Given the description of an element on the screen output the (x, y) to click on. 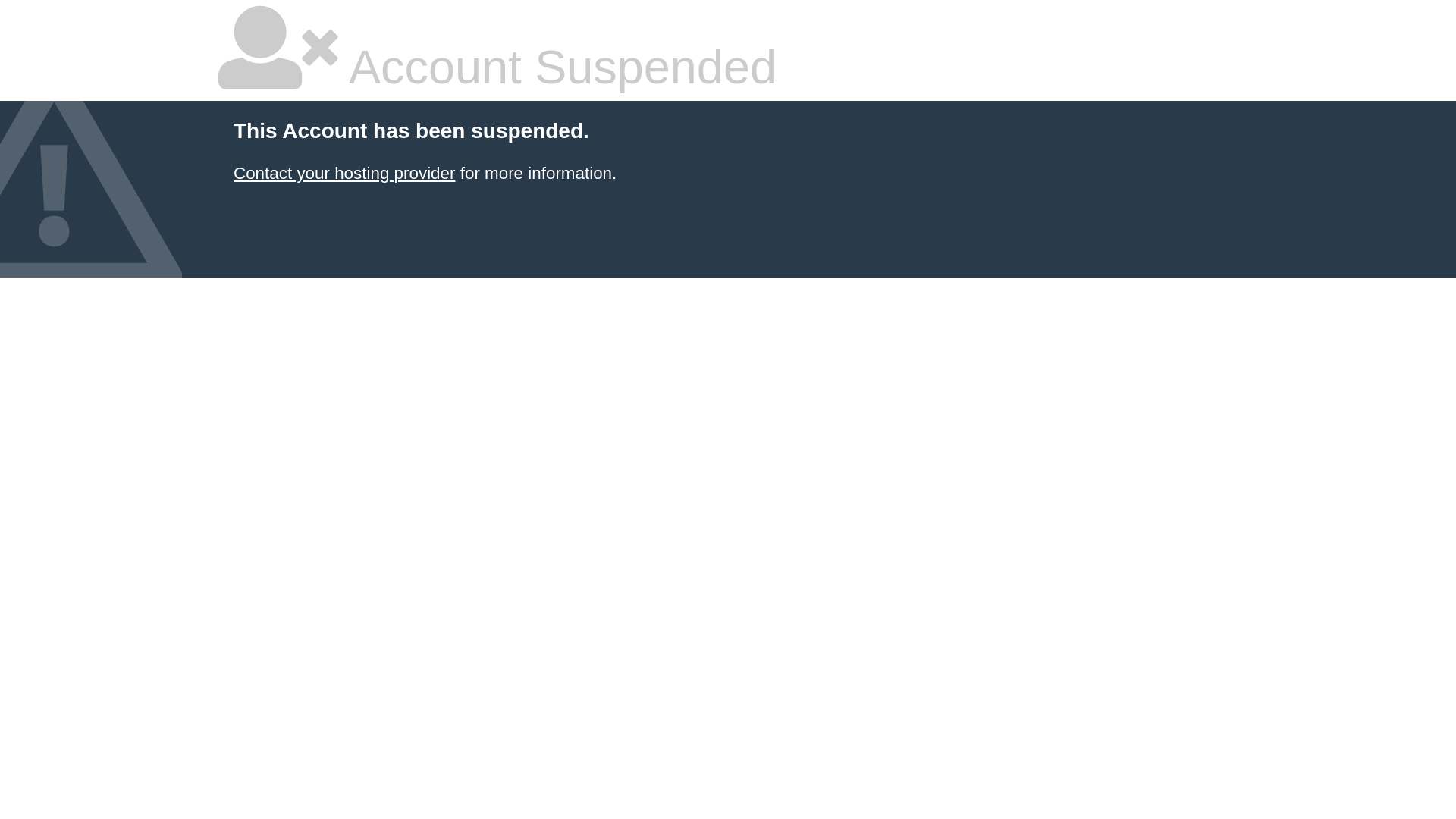
Contact your hosting provider Element type: text (344, 172)
